Given the description of an element on the screen output the (x, y) to click on. 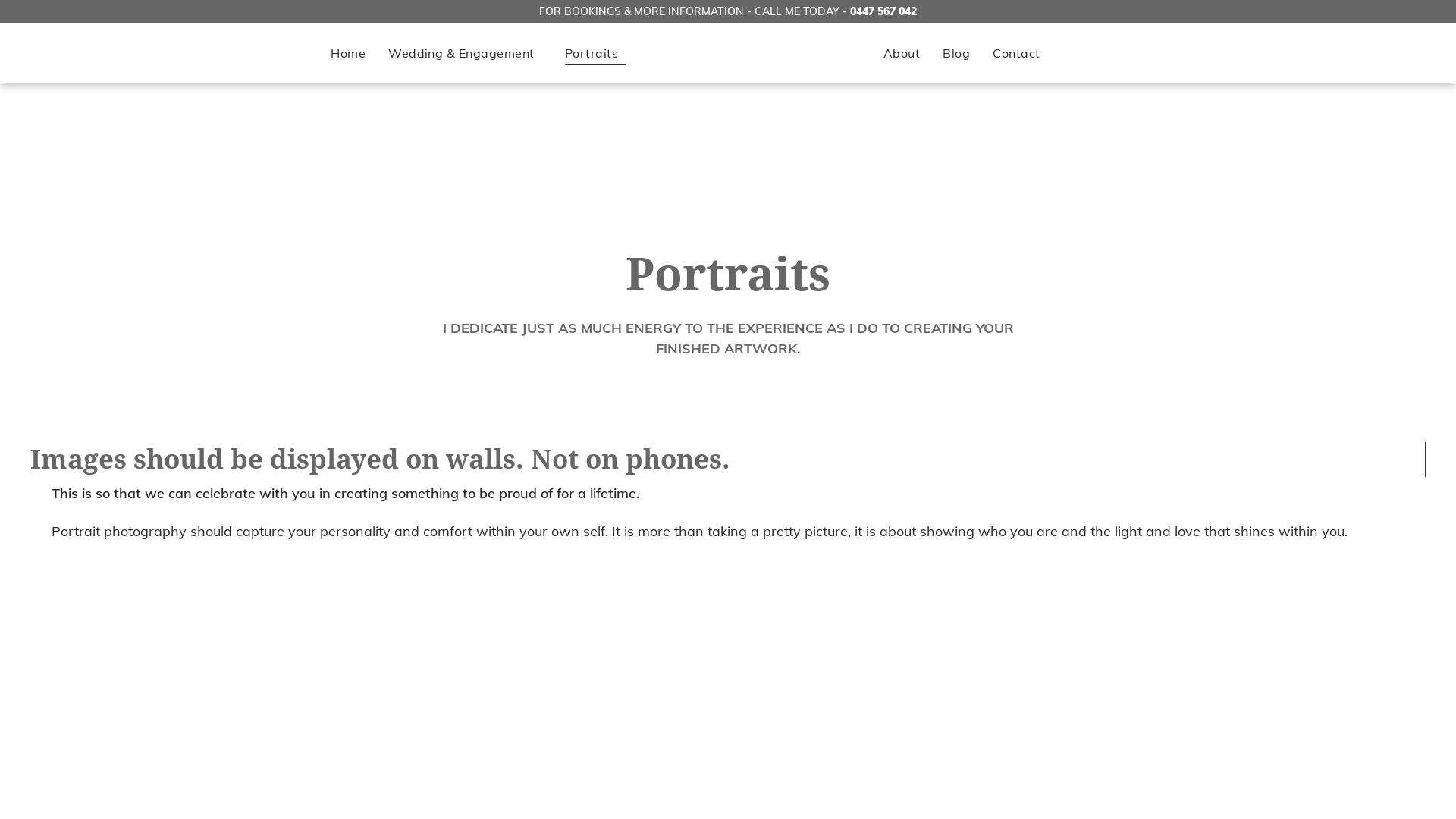
Blog Element type: text (956, 52)
Contact Element type: text (1016, 52)
Portraits Element type: text (595, 52)
About Element type: text (901, 52)
Home Element type: text (347, 52)
0447 567 042 Element type: text (883, 11)
Wedding & Engagement Element type: text (464, 52)
